Given the description of an element on the screen output the (x, y) to click on. 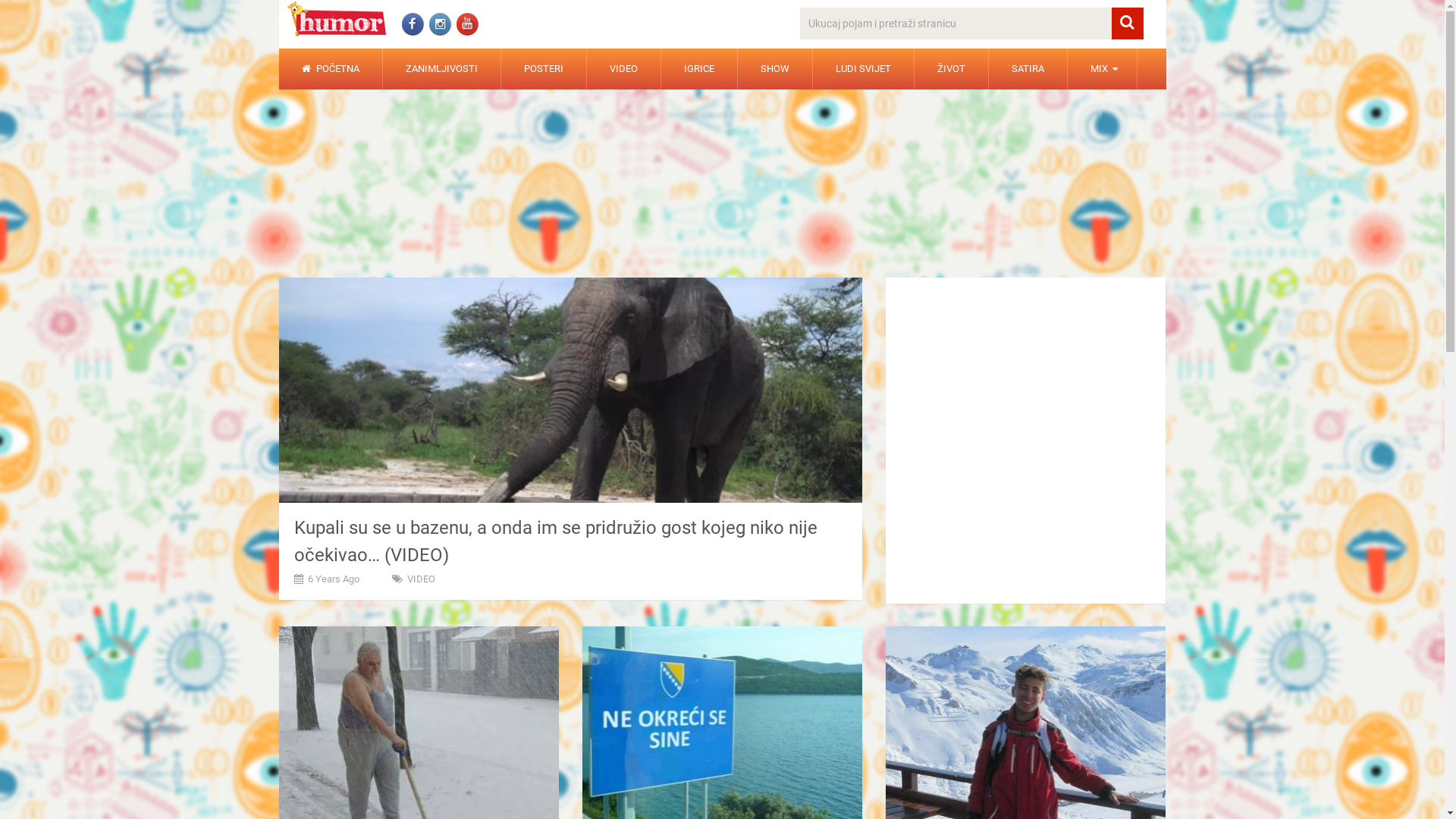
SATIRA Element type: text (1027, 68)
VIDEO Element type: text (623, 68)
LUDI SVIJET Element type: text (862, 68)
Advertisement Element type: hover (722, 180)
IGRICE Element type: text (699, 68)
MIX Element type: text (1101, 68)
ZANIMLJIVOSTI Element type: text (440, 68)
SHOW Element type: text (774, 68)
VIDEO Element type: text (420, 578)
POSTERI Element type: text (542, 68)
Advertisement Element type: hover (1025, 379)
